Given the description of an element on the screen output the (x, y) to click on. 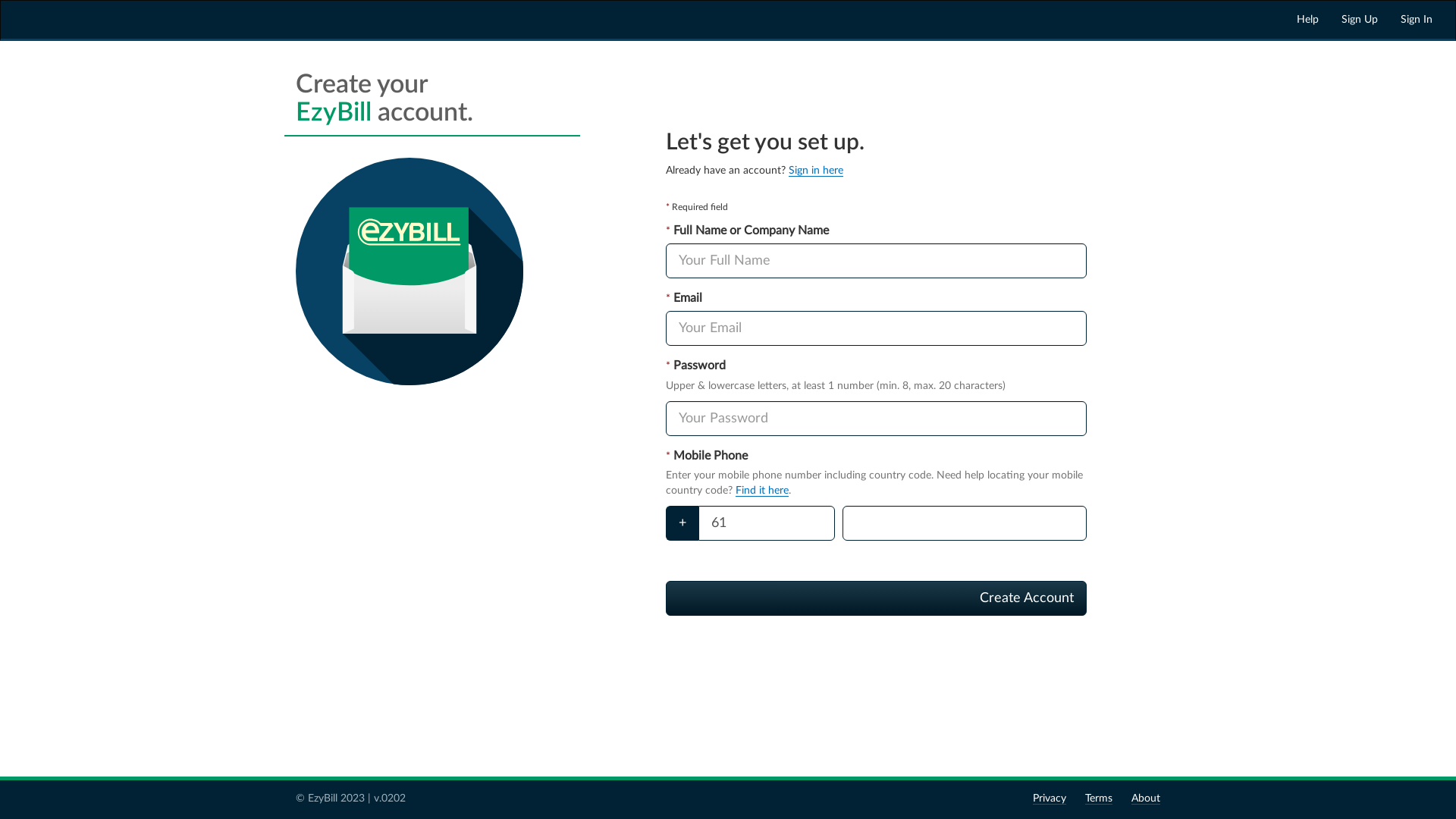
Create Account Element type: text (875, 597)
Privacy Element type: text (1049, 798)
Sign In Element type: text (1416, 19)
Sign in here Element type: text (815, 170)
Help Element type: text (1307, 19)
About Element type: text (1145, 798)
Sign Up Element type: text (1359, 19)
Find it here Element type: text (761, 490)
Moyne Shire Council Element type: text (68, 19)
Terms Element type: text (1098, 798)
